Given the description of an element on the screen output the (x, y) to click on. 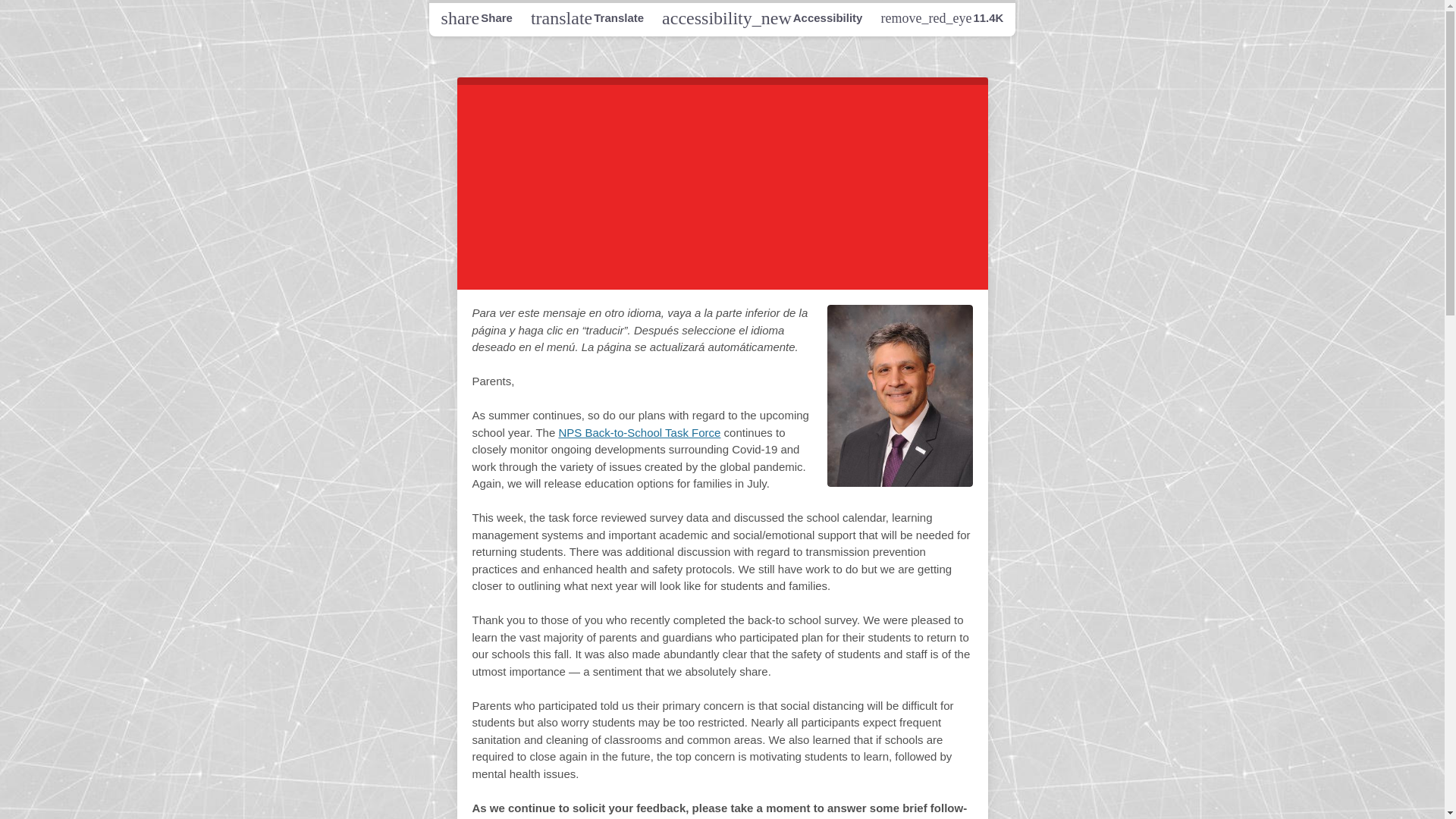
NPS Back-to-School Task Force (476, 18)
Click here to complete the parent survey. (638, 431)
